Given the description of an element on the screen output the (x, y) to click on. 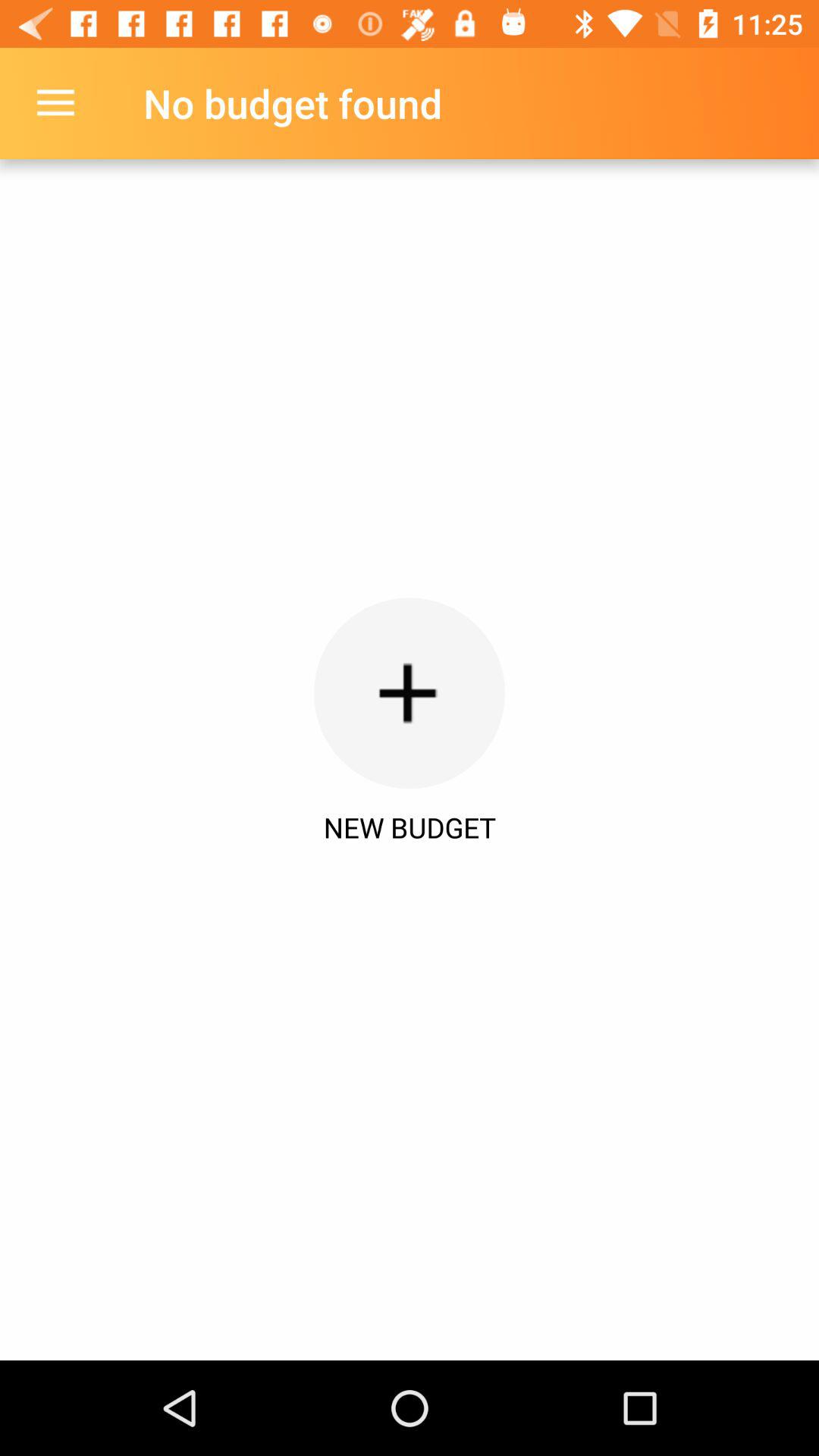
select new budget icon (409, 827)
